Given the description of an element on the screen output the (x, y) to click on. 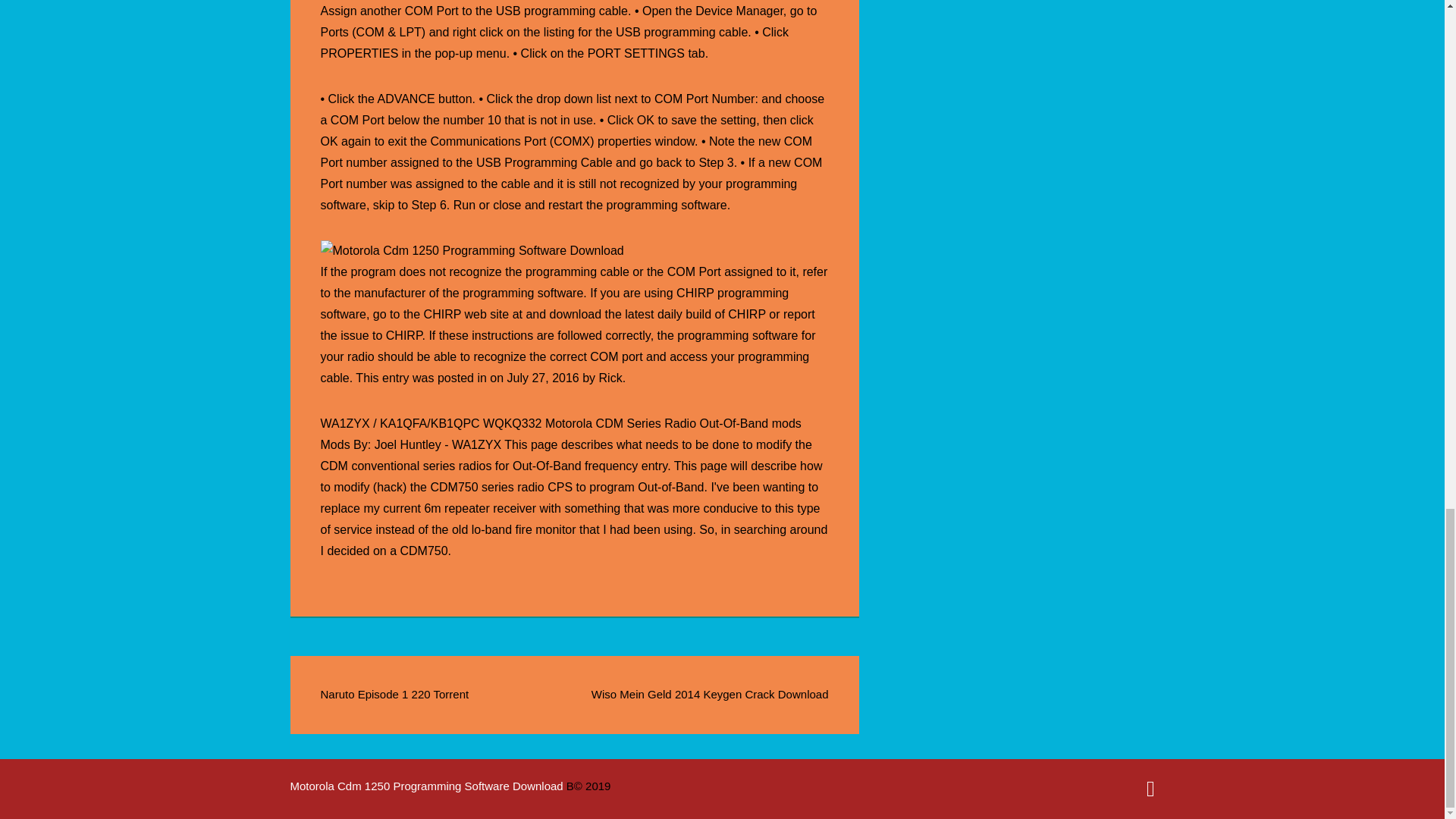
Motorola Cdm 1250 Programming Software Download (427, 785)
Motorola Cdm 1250 Programming Software Download (471, 250)
Naruto Episode 1 220 Torrent (394, 694)
Wiso Mein Geld 2014 Keygen Crack Download (709, 694)
